Given the description of an element on the screen output the (x, y) to click on. 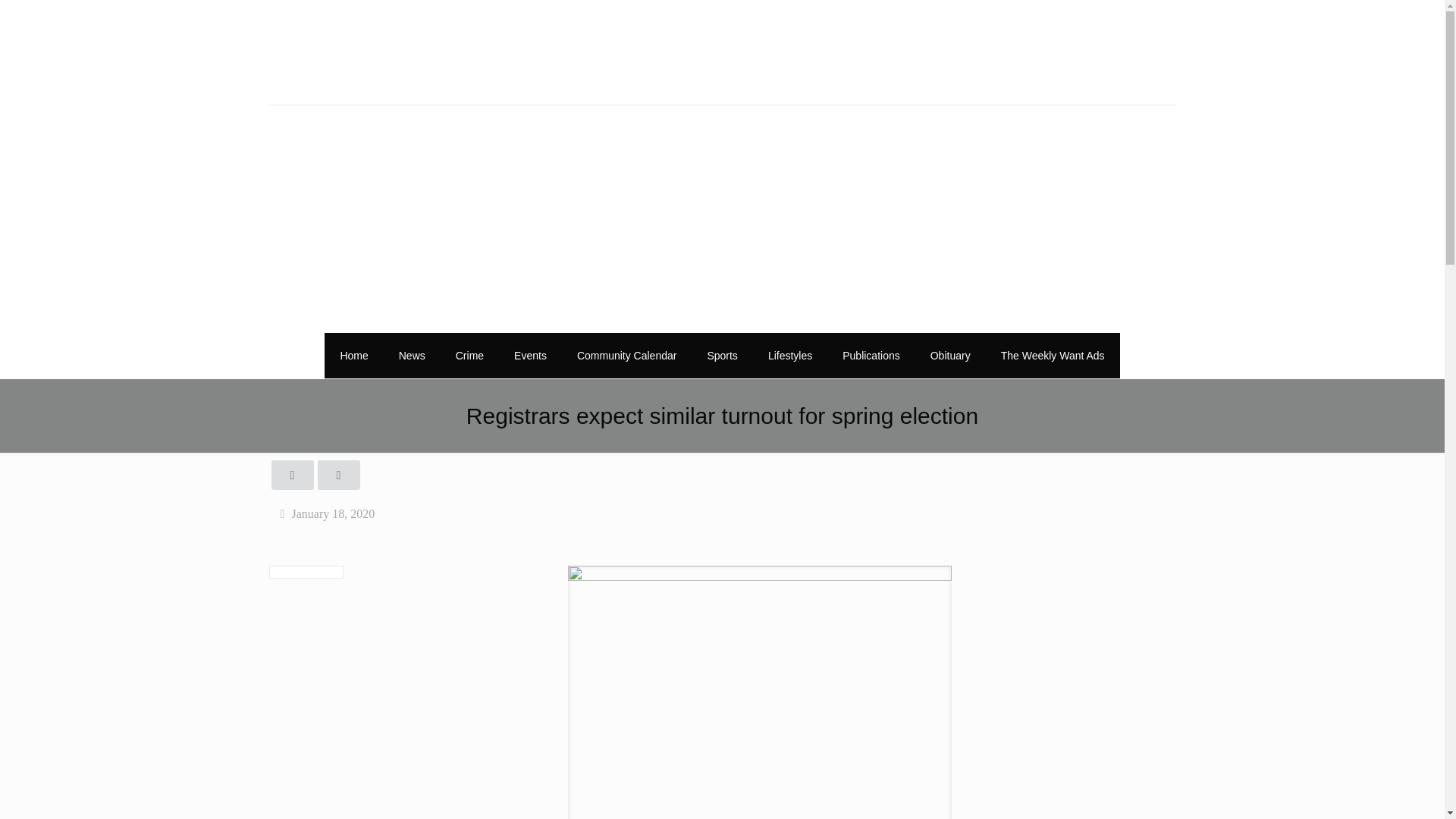
Lifestyles (789, 355)
Events (530, 355)
Home (353, 355)
News (412, 355)
Crime (470, 355)
Sports (721, 355)
The Weekly Want Ads (1052, 355)
Community Calendar (627, 355)
Publications (871, 355)
Obituary (950, 355)
